Given the description of an element on the screen output the (x, y) to click on. 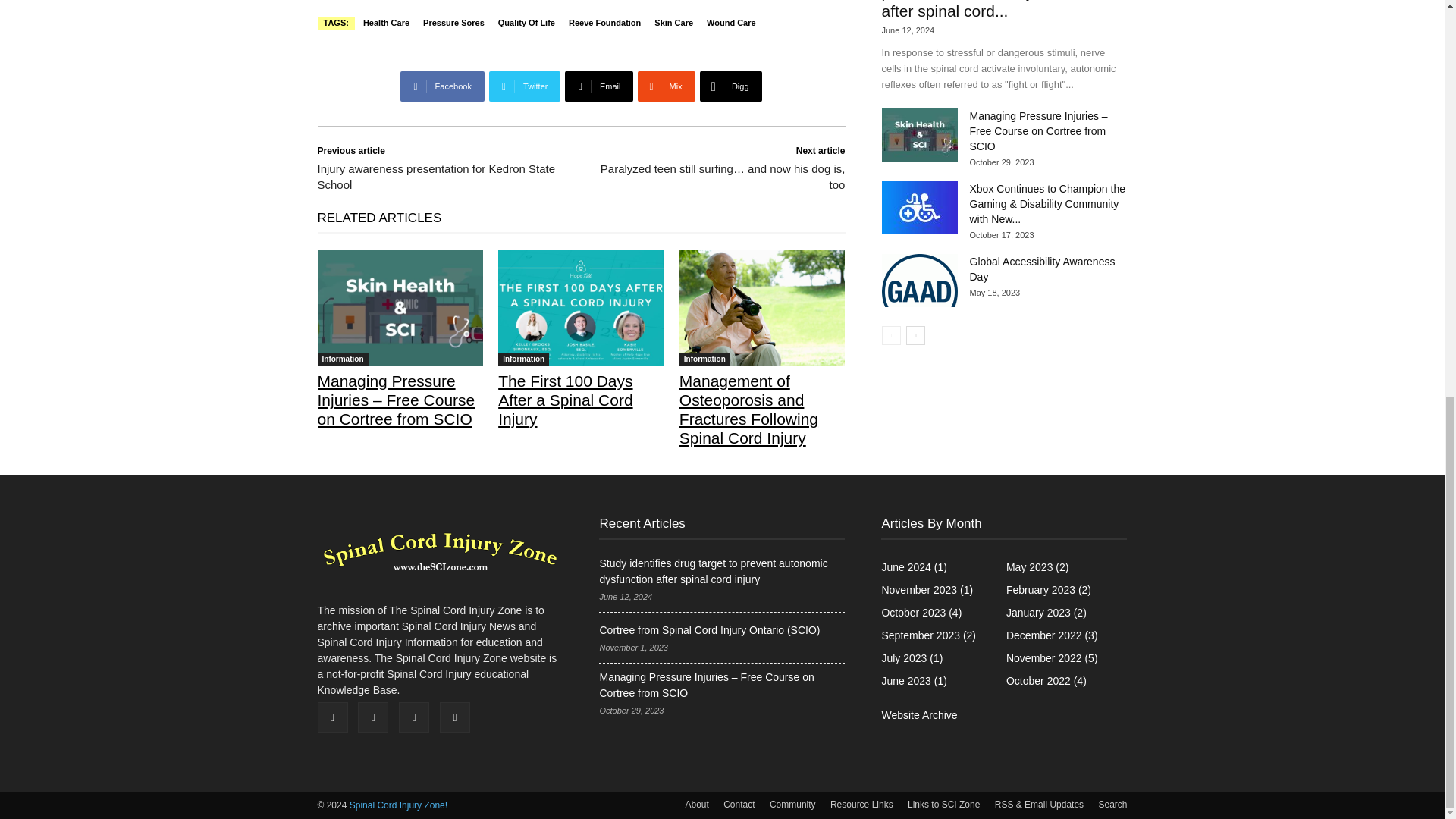
Skin Care (673, 22)
Twitter (524, 86)
Health Care (386, 22)
Reeve Foundation (604, 22)
Quality Of Life (526, 22)
Facebook (441, 86)
Pressure Sores (453, 22)
Facebook (441, 86)
Wound Care (731, 22)
